Given the description of an element on the screen output the (x, y) to click on. 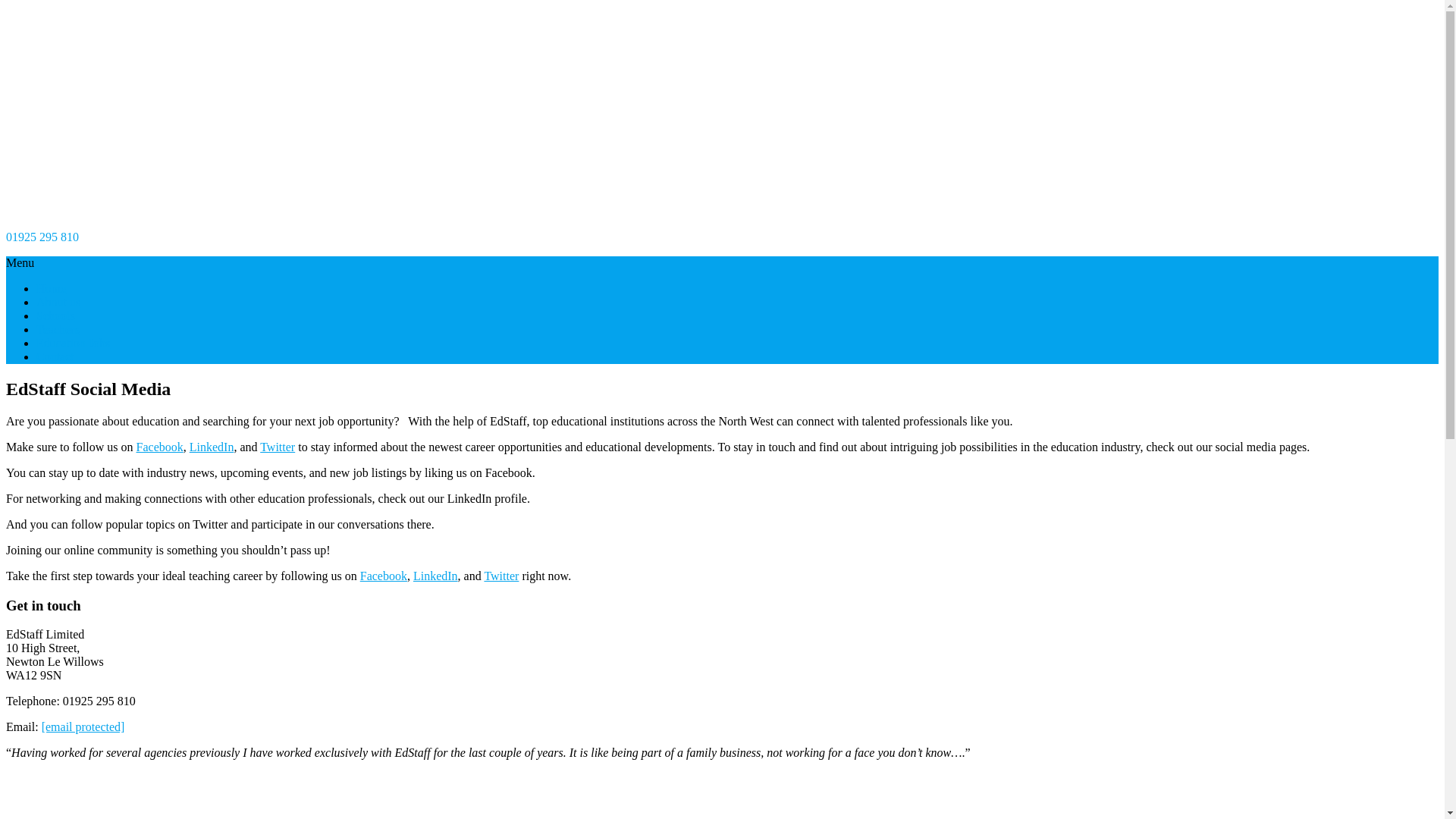
Contact (55, 356)
About us (58, 301)
Home (50, 287)
Schools (55, 315)
Teachers (58, 328)
Facebook (159, 446)
Facebook (383, 575)
Twitter (277, 446)
LinkedIn (435, 575)
Education Jobs (73, 342)
